Given the description of an element on the screen output the (x, y) to click on. 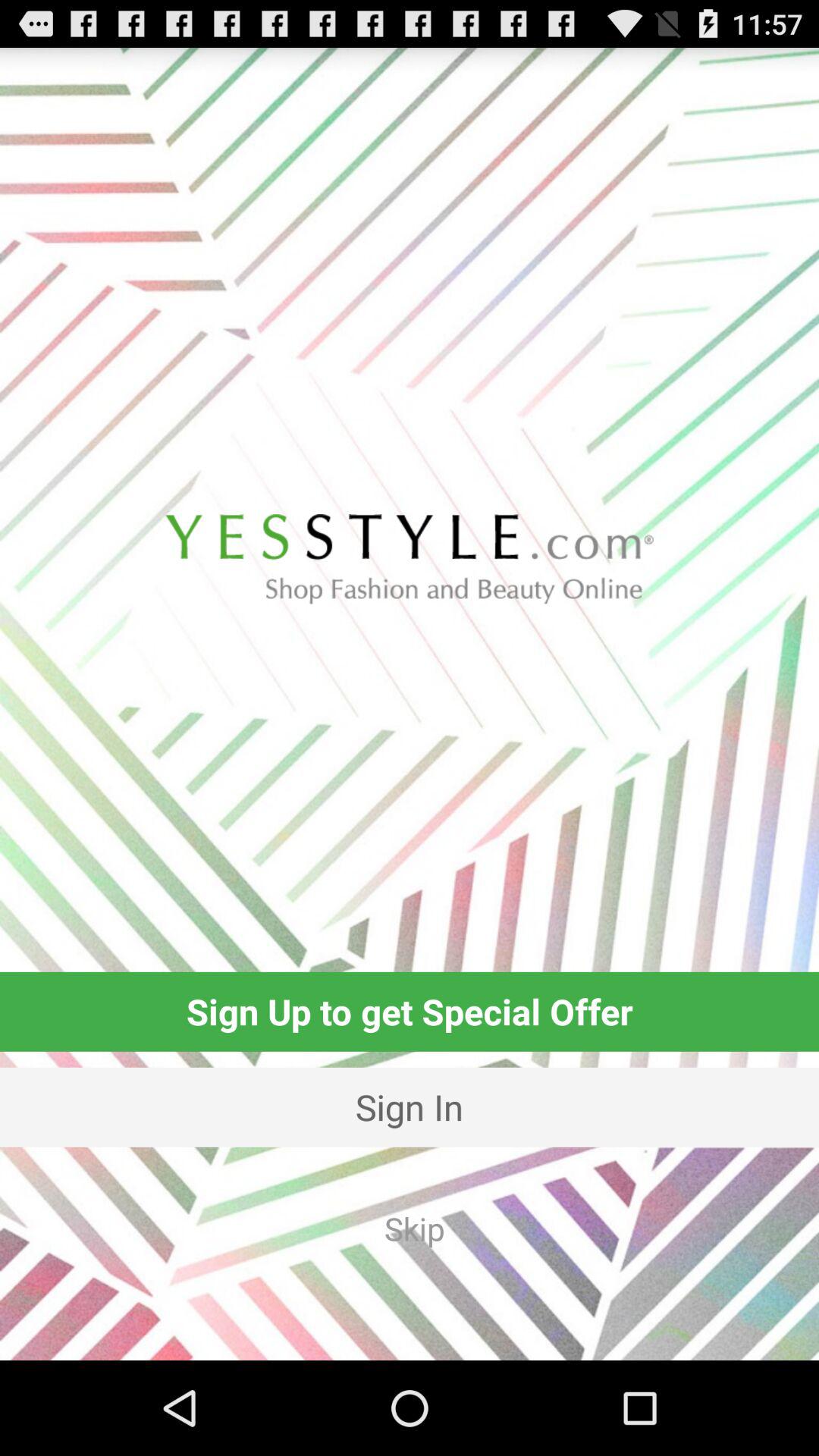
turn on the sign in icon (409, 1107)
